Given the description of an element on the screen output the (x, y) to click on. 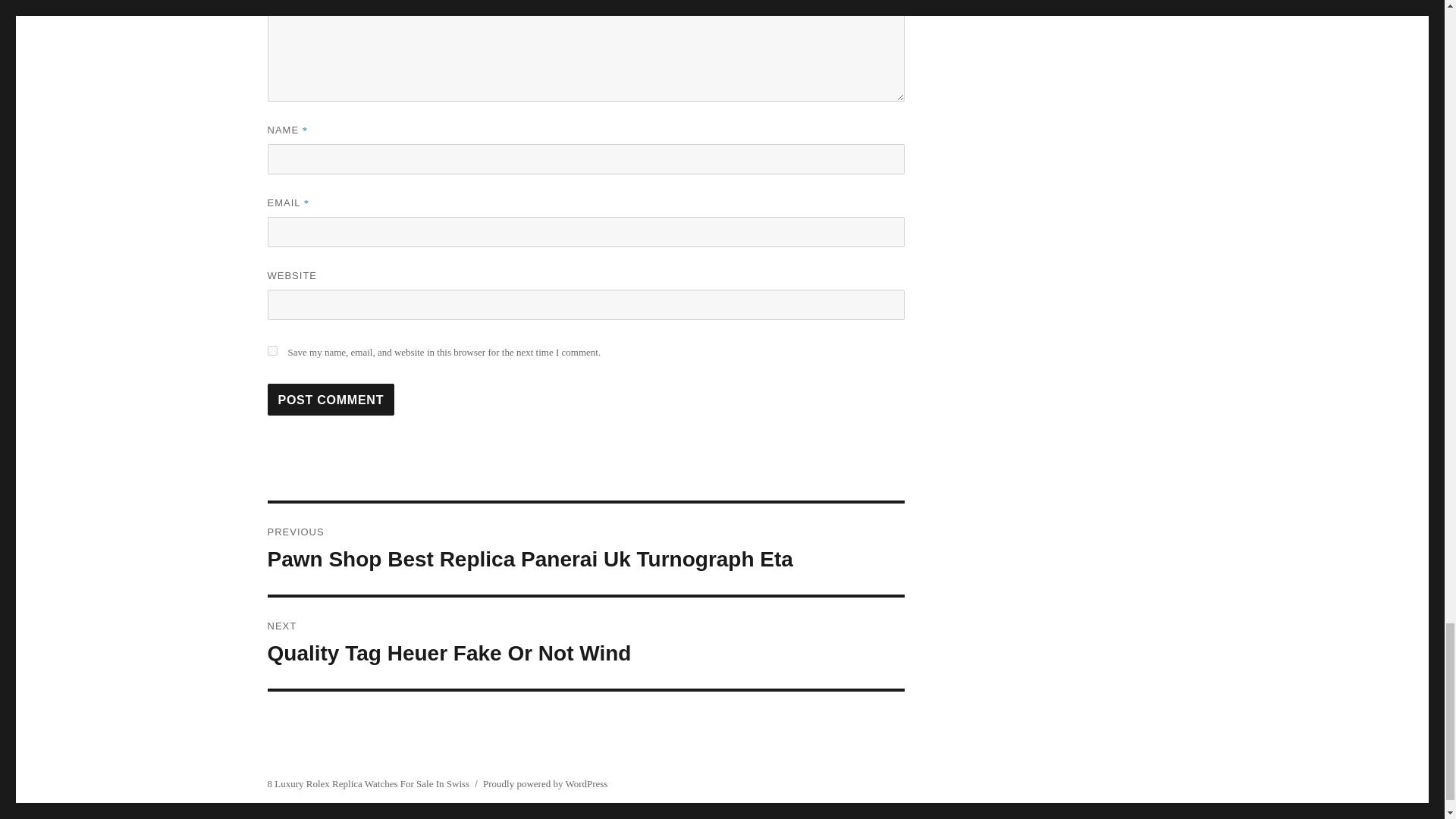
Post Comment (330, 399)
Post Comment (330, 399)
yes (271, 350)
